Given the description of an element on the screen output the (x, y) to click on. 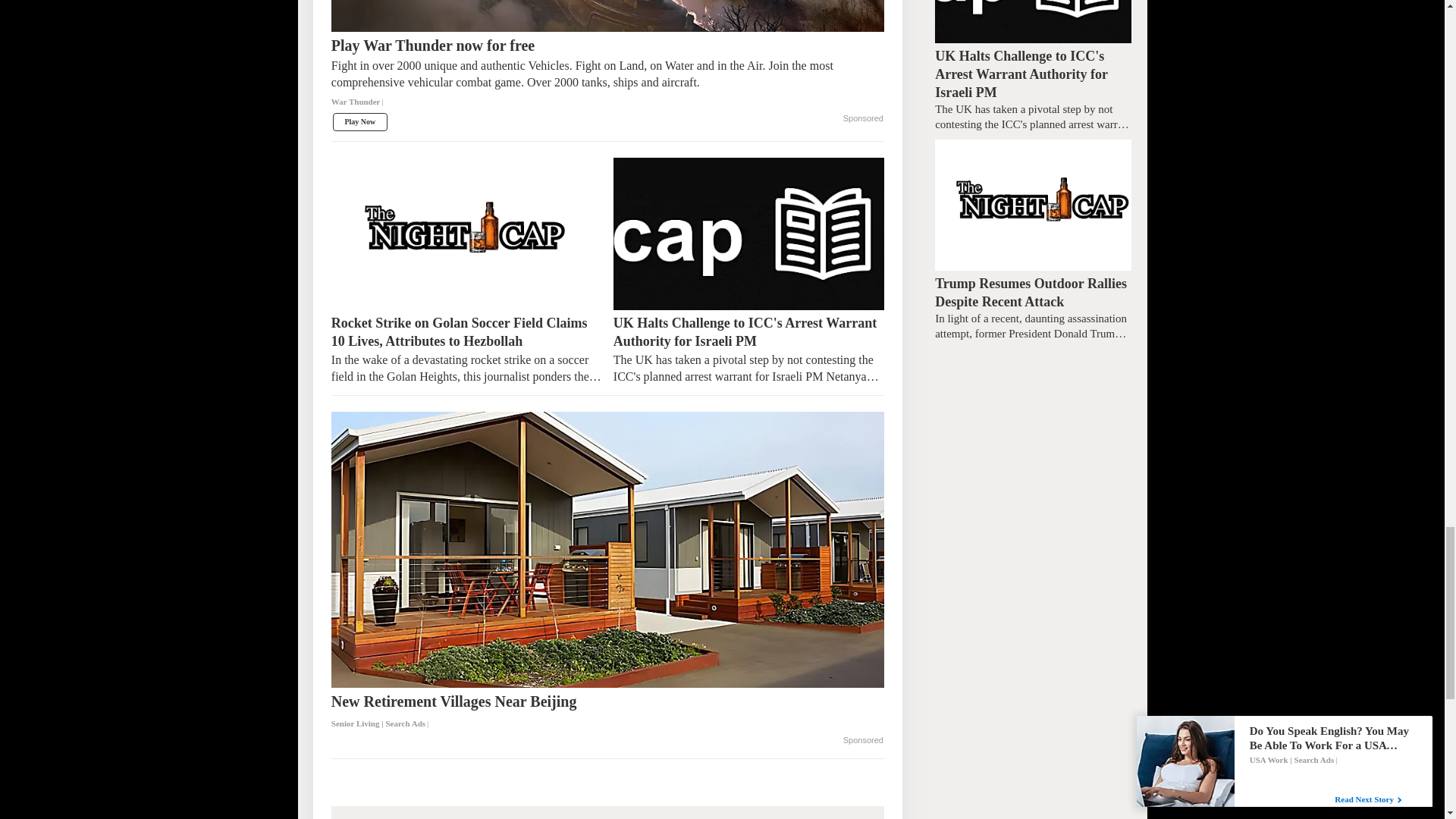
Play Now (360, 122)
Play War Thunder now for free (607, 79)
Sponsored (863, 118)
Sponsored (863, 740)
